Given the description of an element on the screen output the (x, y) to click on. 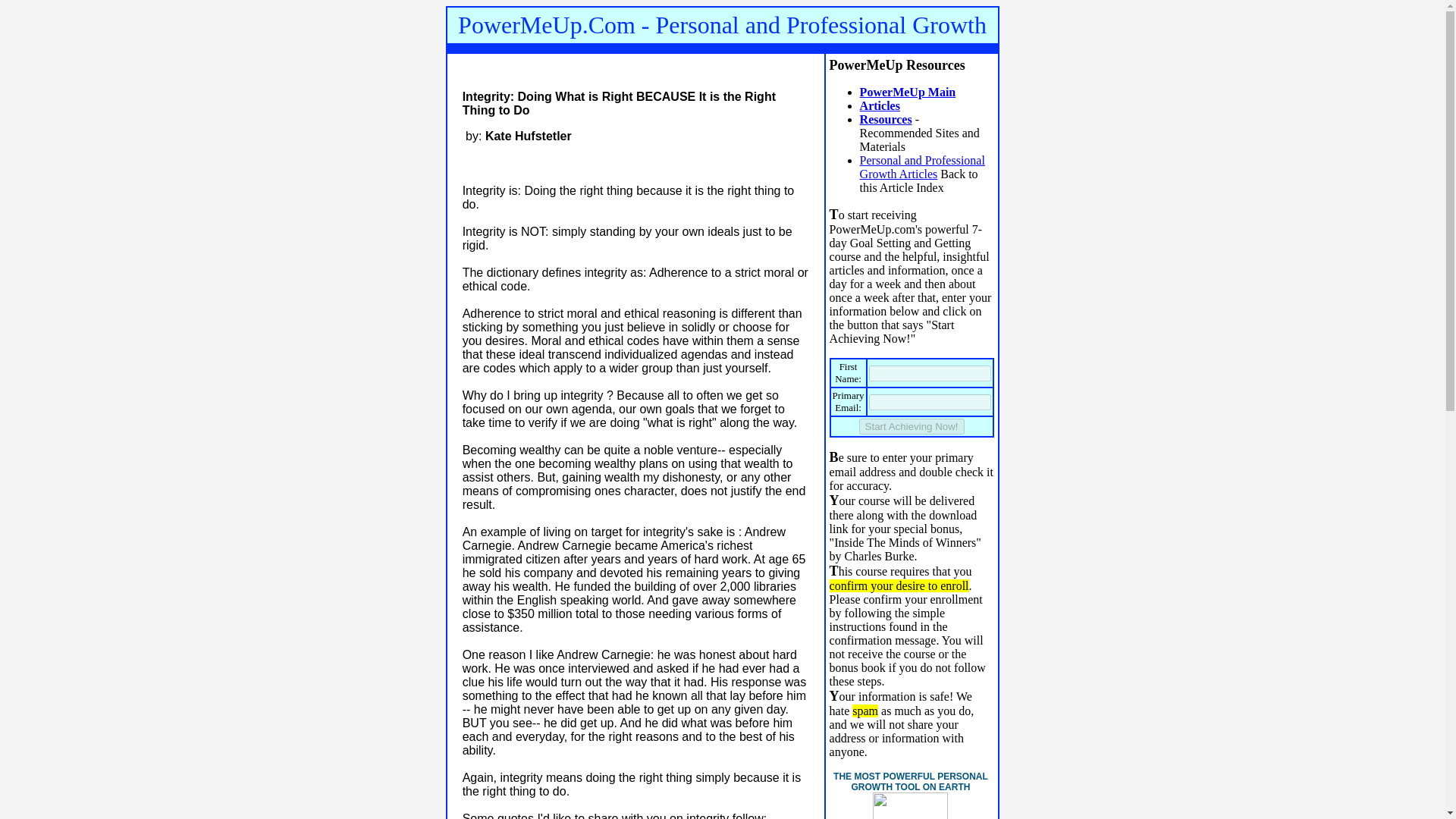
PowerMeUp Main (908, 91)
Start Achieving Now! (911, 426)
Personal and Professional Growth Articles (922, 166)
Resources (886, 119)
Articles (879, 105)
